Given the description of an element on the screen output the (x, y) to click on. 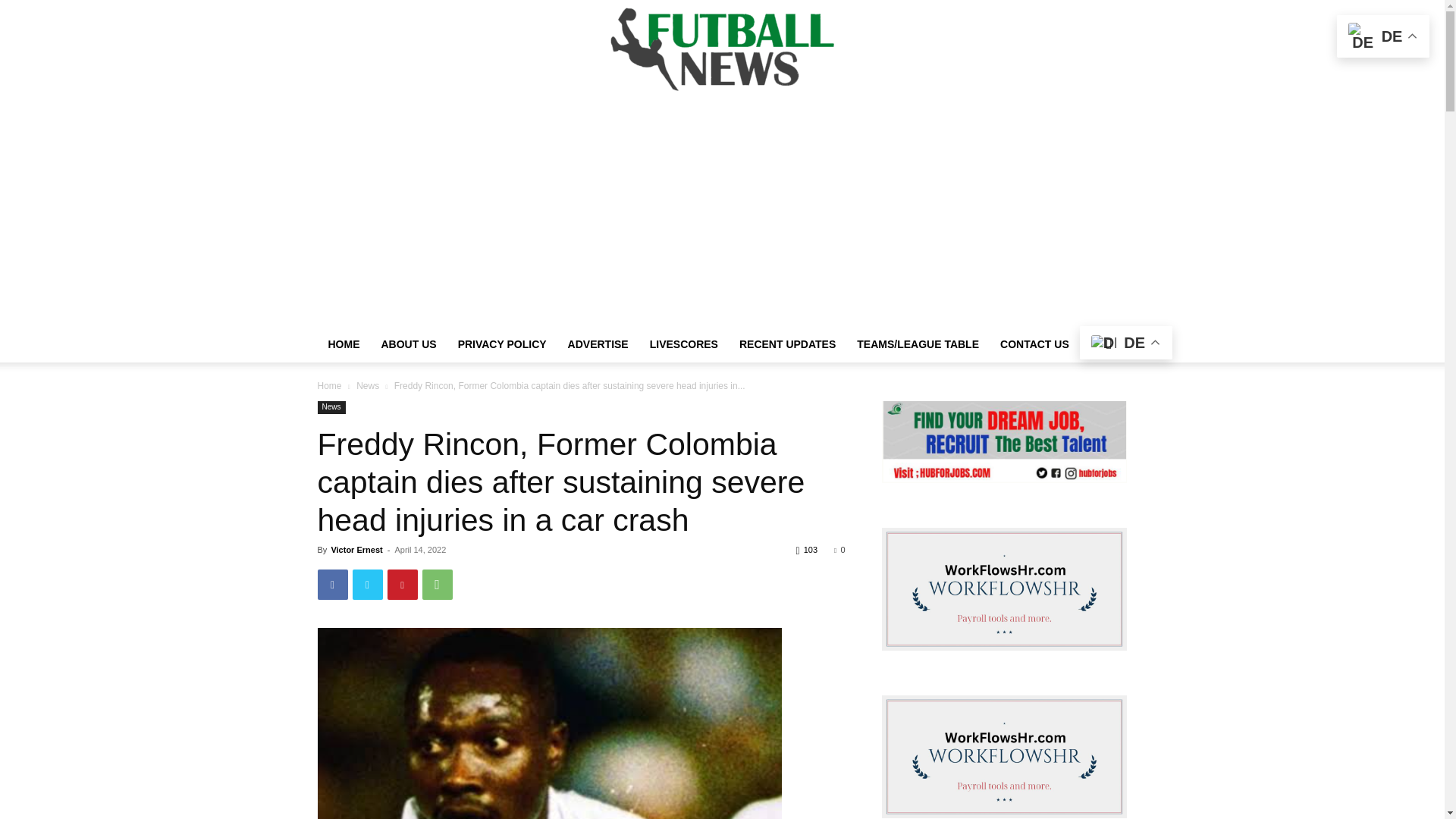
Facebook (332, 584)
Pinterest (401, 584)
LIVESCORES (684, 343)
ADVERTISE (598, 343)
HOME (343, 343)
ABOUT US (407, 343)
Twitter (366, 584)
RECENT UPDATES (787, 343)
CONTACT US (1035, 343)
View all posts in News (367, 385)
WhatsApp (436, 584)
